Given the description of an element on the screen output the (x, y) to click on. 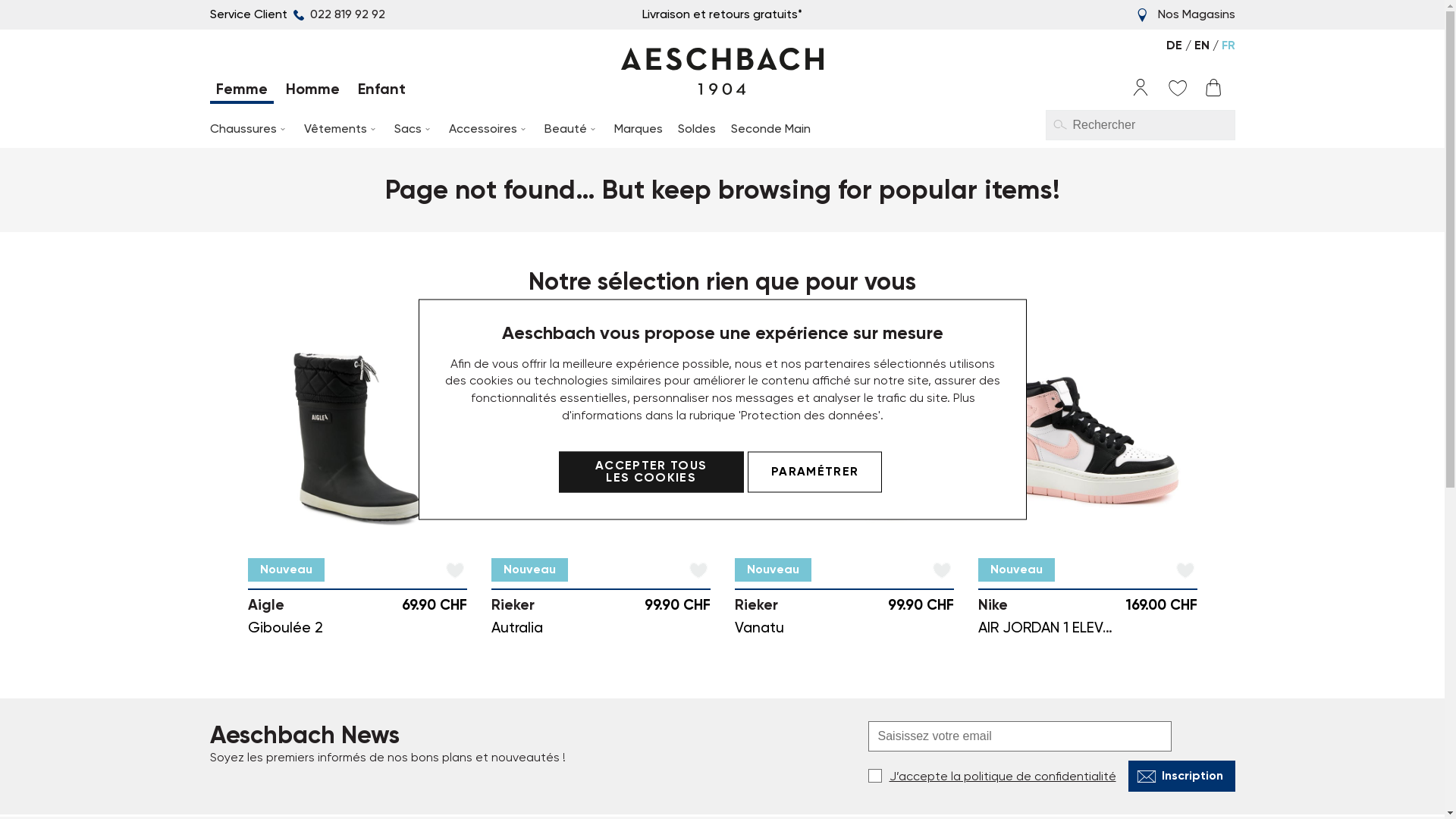
ACCEPTER TOUS LES COOKIES Element type: text (650, 471)
Nos Magasins Element type: text (1195, 13)
Marques Element type: text (638, 128)
Seconde Main Element type: text (770, 128)
Soldes Element type: text (696, 128)
Chaussures Element type: text (248, 128)
022 819 92 92 Element type: text (336, 14)
Autralia Element type: text (516, 627)
Inscription Element type: text (1181, 775)
Rechercher Element type: text (1058, 124)
AIR JORDAN 1 ELEVATE HIGH Element type: text (1071, 627)
EN Element type: text (1202, 44)
Sacs Element type: text (413, 128)
DE Element type: text (1175, 44)
Enfant Element type: text (381, 91)
Femme Element type: text (241, 91)
Homme Element type: text (312, 91)
Vanatu Element type: text (758, 627)
Accessoires Element type: text (488, 128)
